Given the description of an element on the screen output the (x, y) to click on. 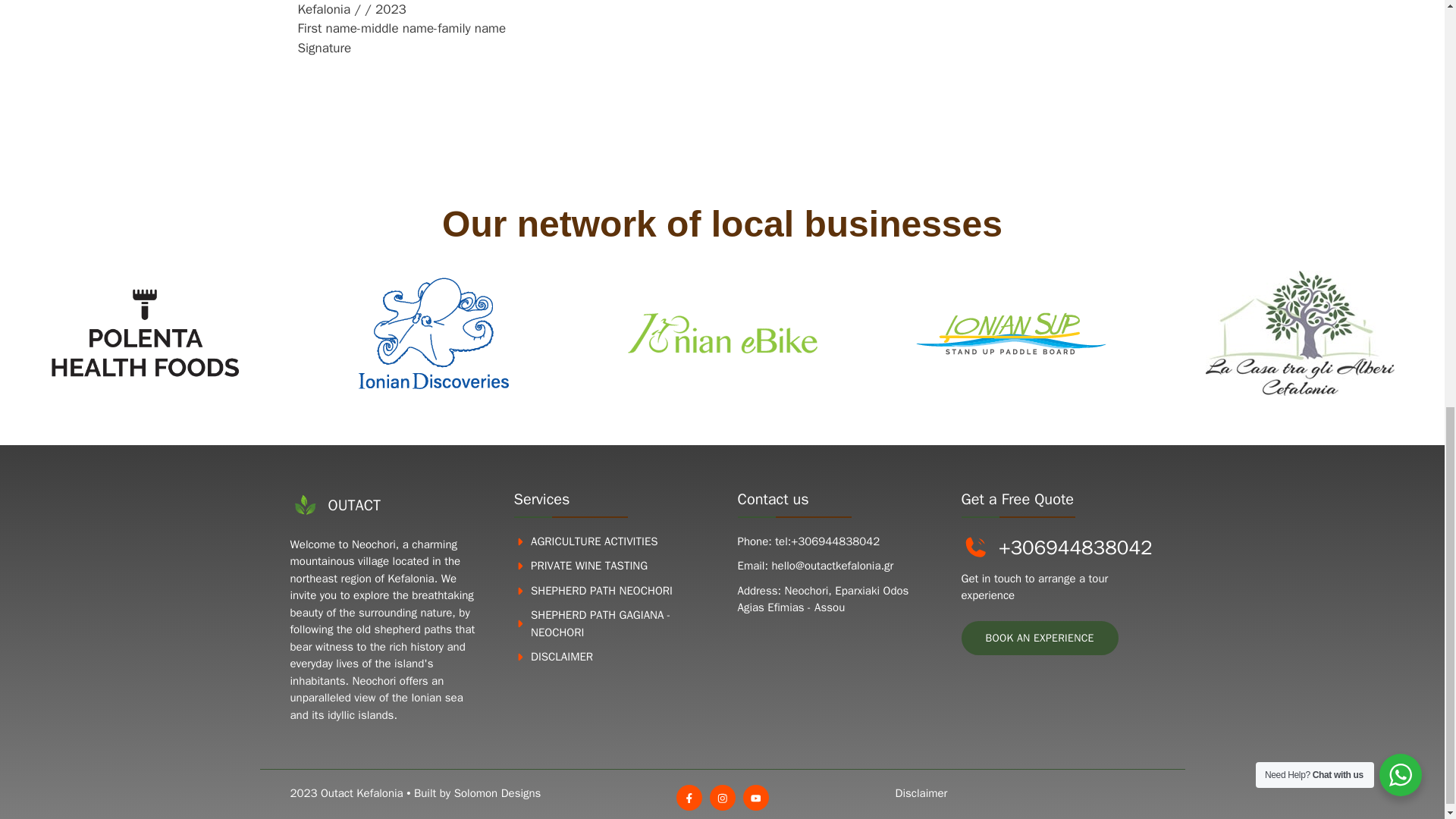
PRIVATE WINE TASTING (589, 565)
DISCLAIMER (561, 656)
AGRICULTURE ACTIVITIES (594, 540)
logo ionian ebike (721, 332)
logo Ionian Sup (1010, 333)
BOOK AN EXPERIENCE (1039, 637)
logo la casa tra gli alberi cefalonia (1299, 333)
logo ionian discoveries (433, 333)
by Solomon Designs (490, 793)
SHEPHERD PATH GAGIANA - NEOCHORI (600, 623)
SHEPHERD PATH NEOCHORI (601, 590)
